Given the description of an element on the screen output the (x, y) to click on. 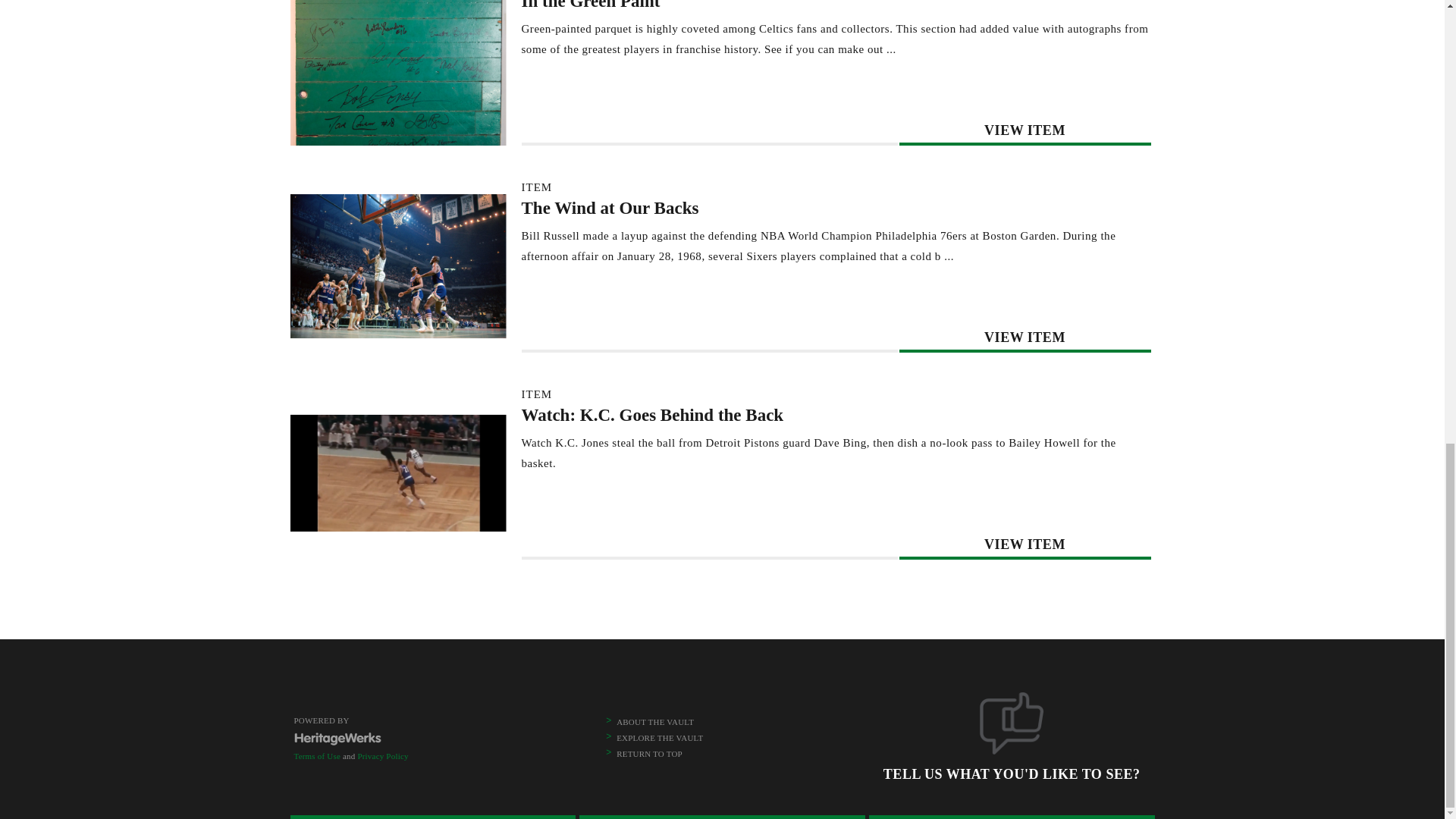
RETURN TO TOP (648, 753)
ABOUT THE VAULT (654, 721)
EXPLORE THE VAULT (659, 737)
VIEW ITEM (1024, 544)
Terms of Use (317, 755)
VIEW ITEM (1024, 130)
Privacy Policy (381, 755)
VIEW ITEM (1024, 337)
TELL US WHAT YOU'D LIKE TO SEE? (1011, 750)
